Given the description of an element on the screen output the (x, y) to click on. 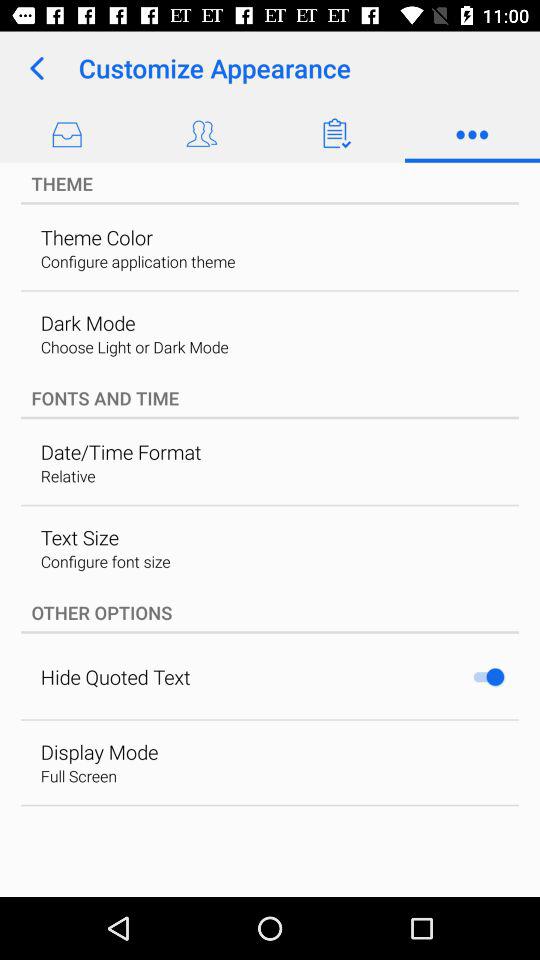
press the icon to the left of the customize appearance (36, 68)
